Given the description of an element on the screen output the (x, y) to click on. 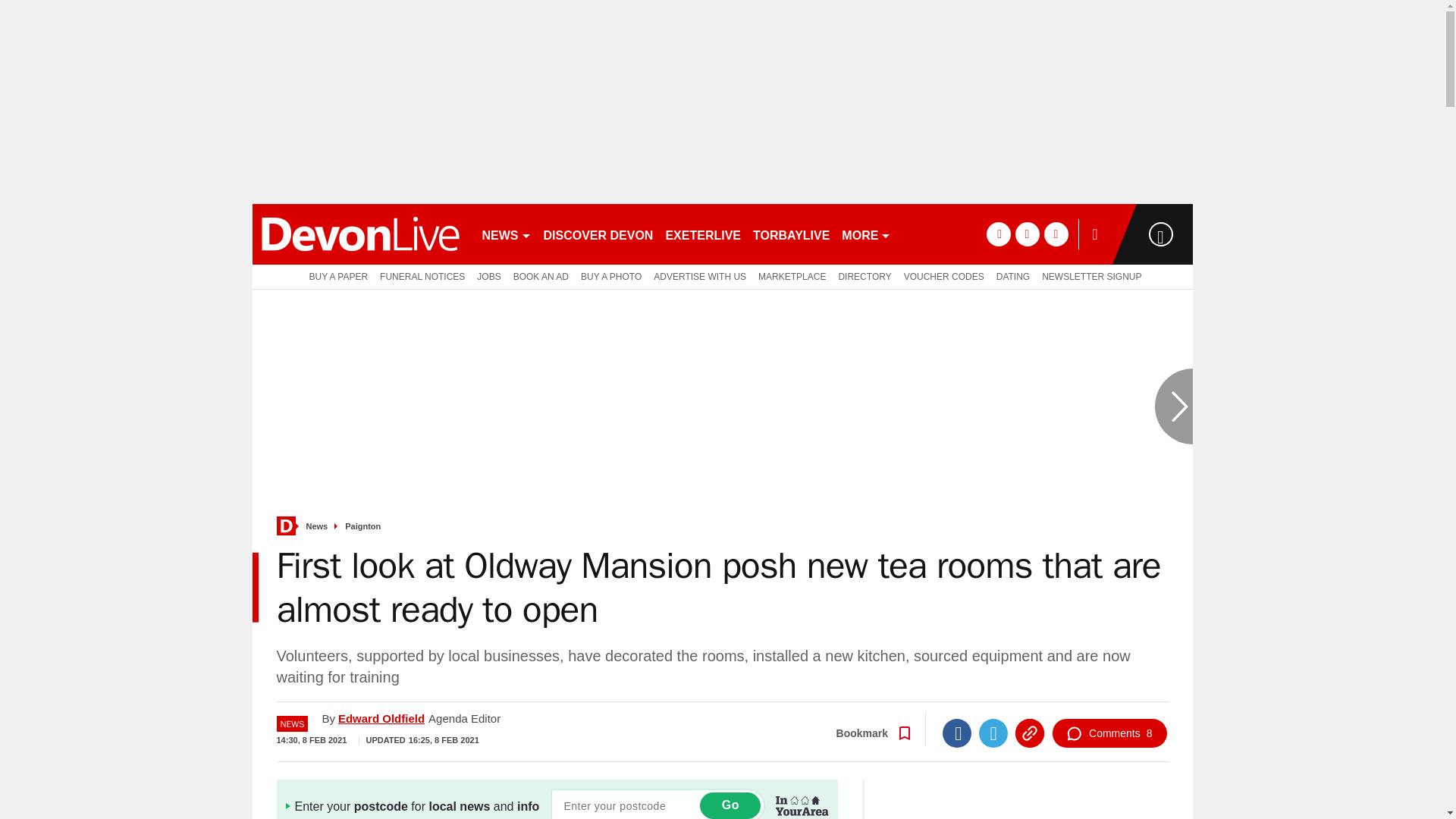
NEWS (506, 233)
MORE (865, 233)
Go (730, 805)
Twitter (992, 733)
Comments (1108, 733)
DISCOVER DEVON (598, 233)
Facebook (956, 733)
twitter (1026, 233)
instagram (1055, 233)
TORBAYLIVE (790, 233)
